Given the description of an element on the screen output the (x, y) to click on. 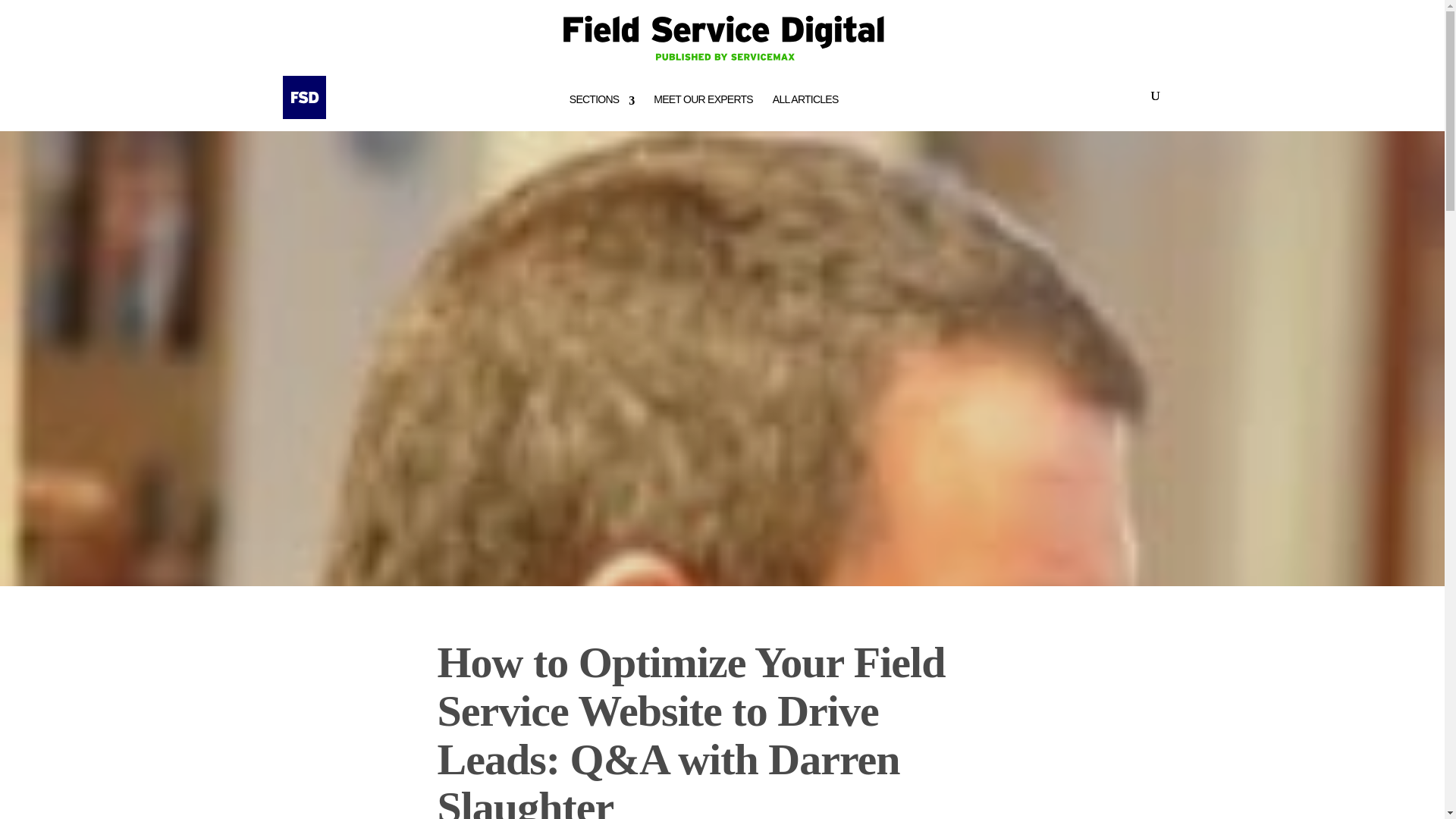
ALL ARTICLES (805, 99)
SECTIONS (601, 99)
MEET OUR EXPERTS (702, 99)
